Given the description of an element on the screen output the (x, y) to click on. 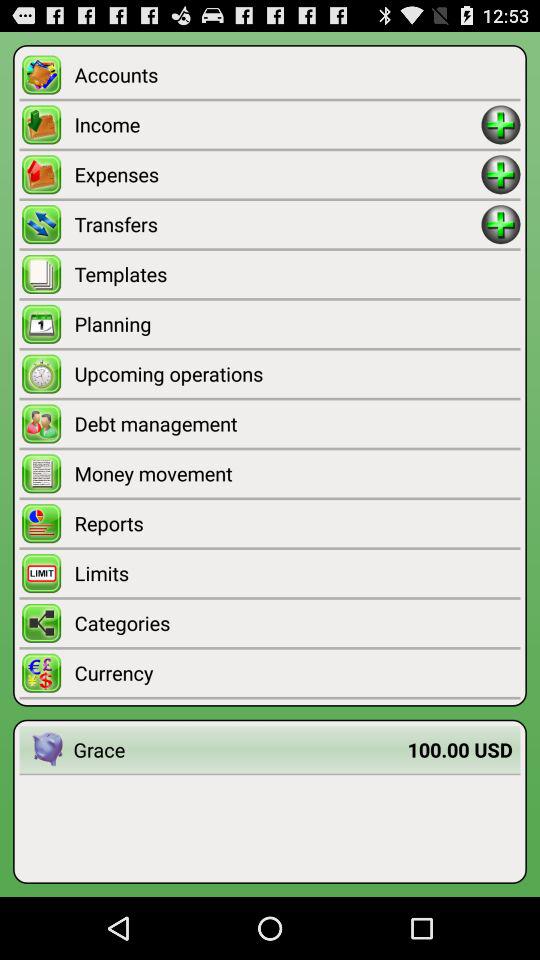
select a icon which is before transfers on a page (42, 224)
